Given the description of an element on the screen output the (x, y) to click on. 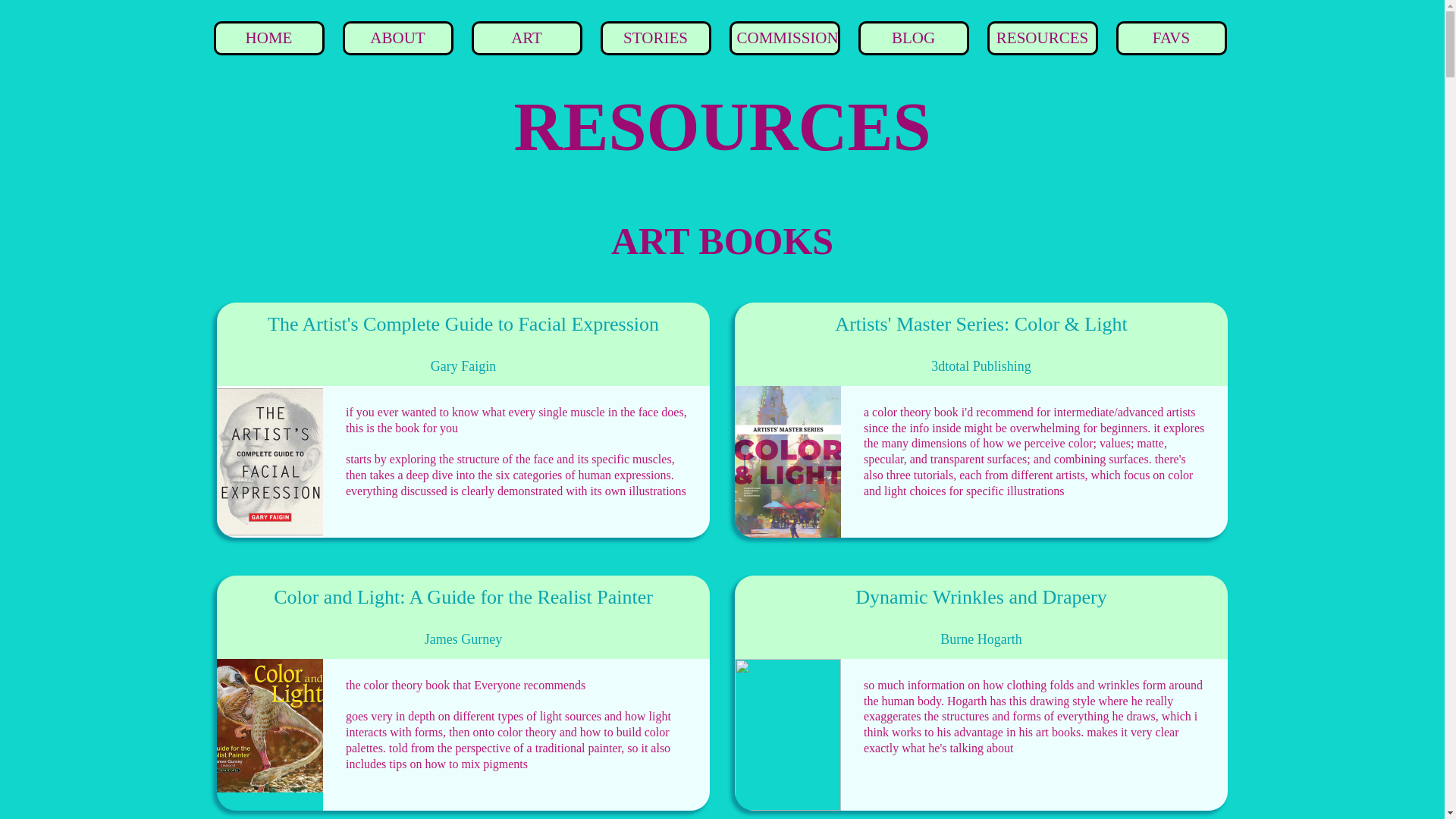
HOME (269, 37)
ABOUT (397, 37)
BLOG (913, 37)
STORIES (655, 38)
ART (526, 38)
Color and Light: A Guide for the Realist Painter (462, 597)
COMMISSION (786, 37)
The Artist's Complete Guide to Facial Expression (462, 323)
